Given the description of an element on the screen output the (x, y) to click on. 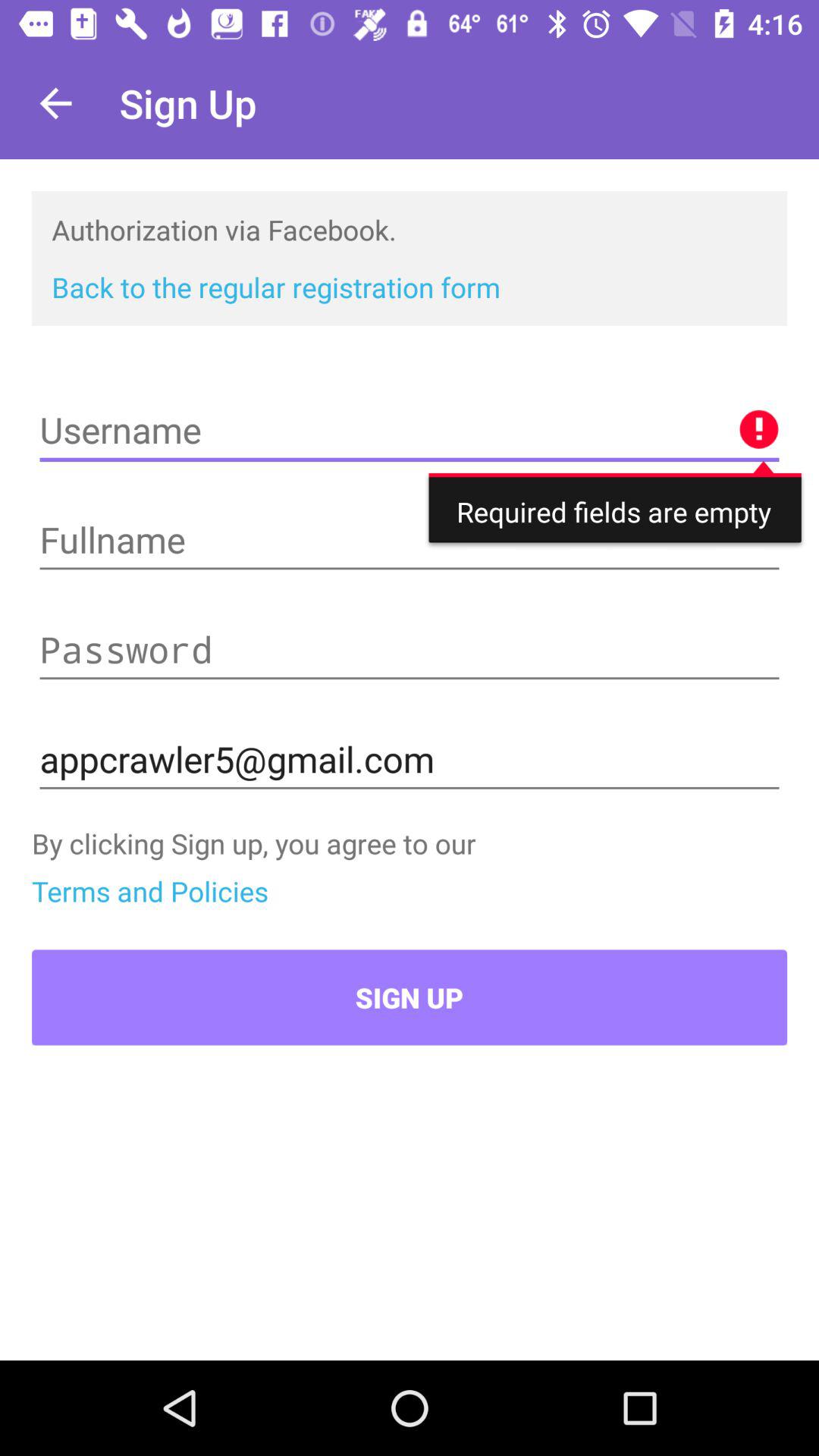
enter your username (409, 430)
